Given the description of an element on the screen output the (x, y) to click on. 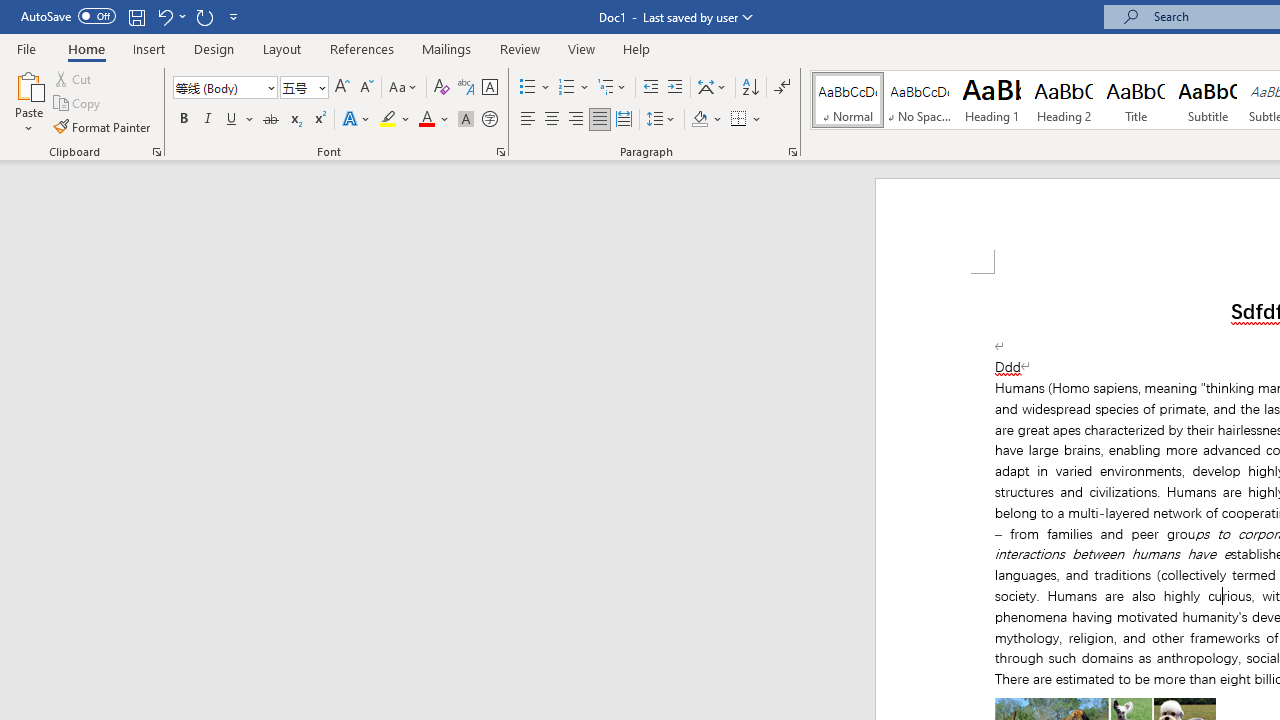
Multilevel List (613, 87)
Center (552, 119)
Undo Italic (164, 15)
Font Color (434, 119)
Paragraph... (792, 151)
Format Painter (103, 126)
Subtitle (1208, 100)
Text Highlight Color (395, 119)
